Given the description of an element on the screen output the (x, y) to click on. 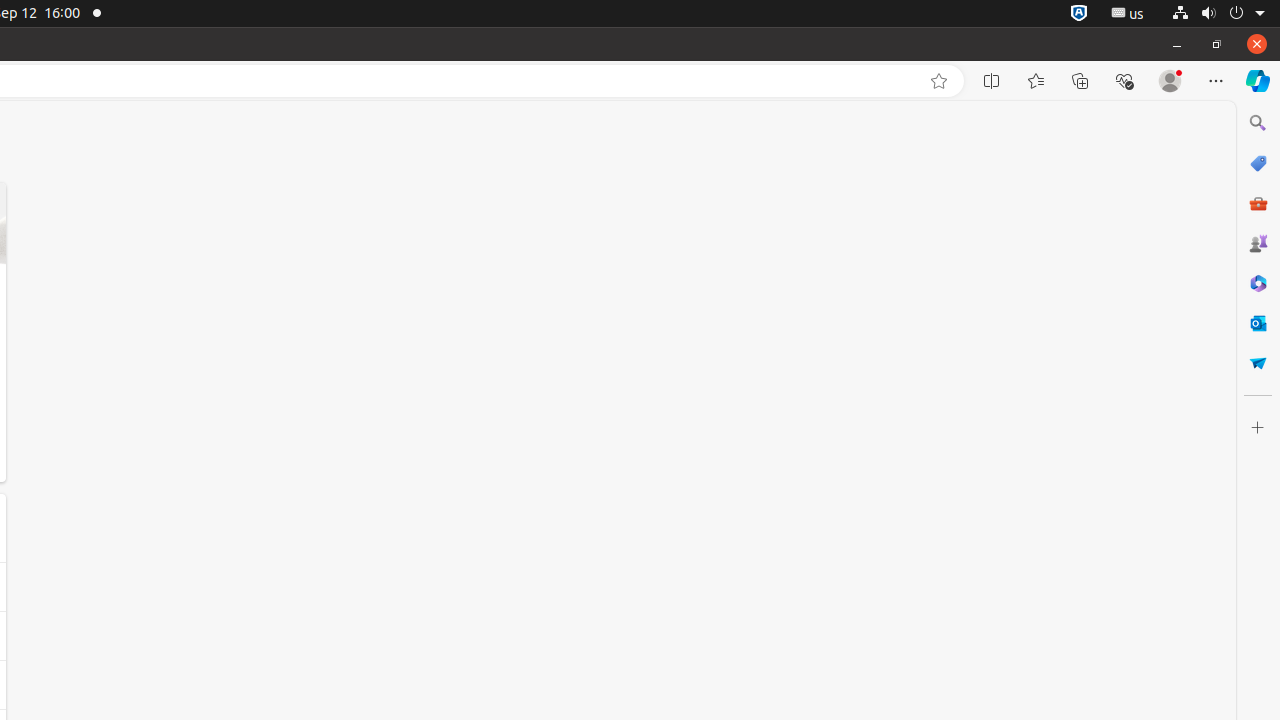
Add this page to favorites (Ctrl+D) Element type: push-button (939, 81)
:1.21/StatusNotifierItem Element type: menu (1127, 13)
Microsoft Shopping Element type: push-button (1258, 163)
Settings and more (Alt+F) Element type: push-button (1216, 81)
Browser essentials Element type: push-button (1124, 81)
